Given the description of an element on the screen output the (x, y) to click on. 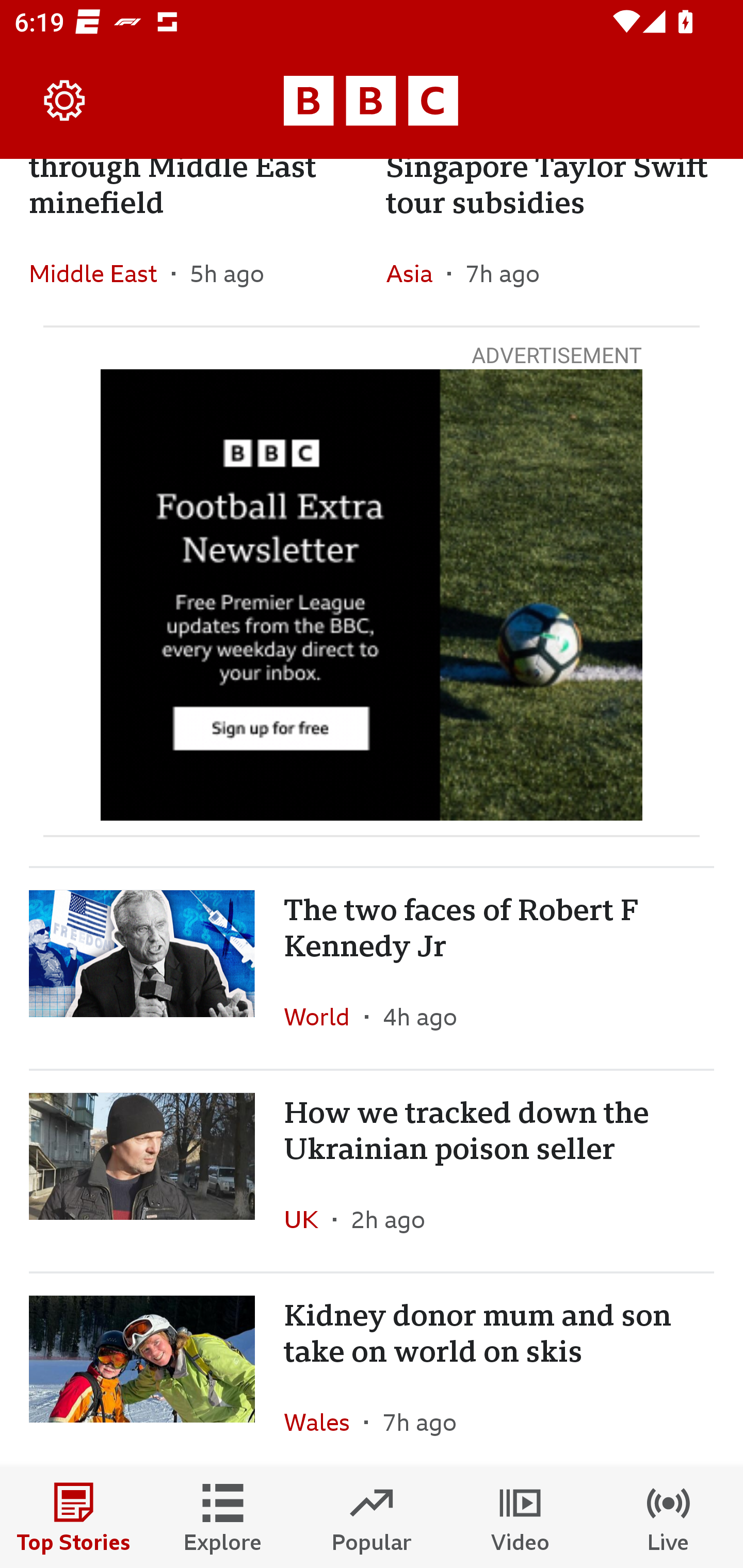
Settings (64, 100)
Middle East In the section Middle East (99, 273)
Asia In the section Asia (416, 273)
World In the section World (323, 1016)
UK In the section UK (307, 1218)
Wales In the section Wales (323, 1418)
Explore (222, 1517)
Popular (371, 1517)
Video (519, 1517)
Live (668, 1517)
